Given the description of an element on the screen output the (x, y) to click on. 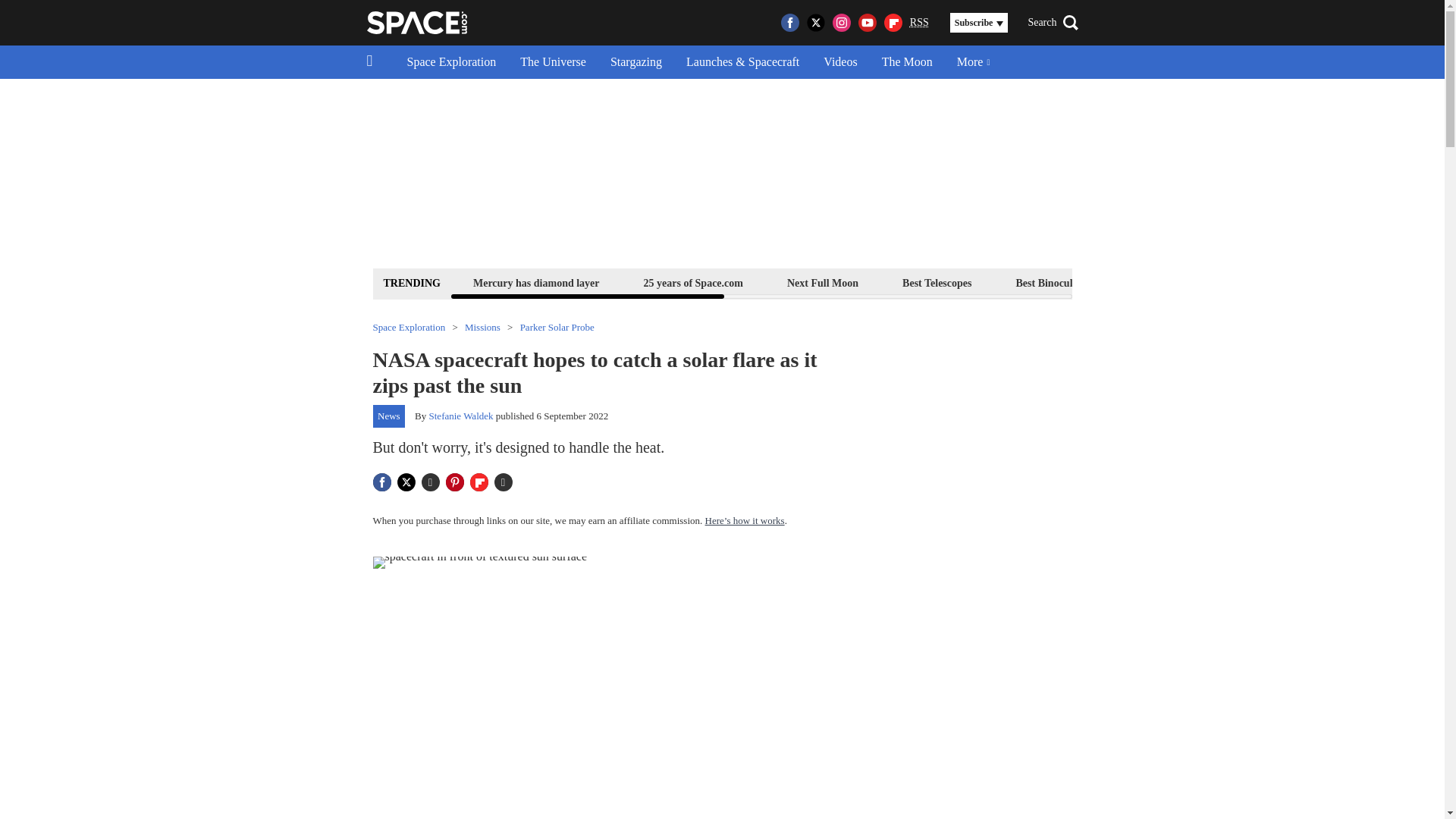
Space Calendar (1301, 282)
Best Binoculars (1051, 282)
RSS (919, 22)
Mercury has diamond layer (536, 282)
Stargazing (636, 61)
Best Star Projectors (1176, 282)
Videos (839, 61)
Best Telescopes (936, 282)
Next Full Moon (822, 282)
Really Simple Syndication (919, 21)
The Universe (553, 61)
The Moon (906, 61)
Space Exploration (451, 61)
25 years of Space.com (693, 282)
